Given the description of an element on the screen output the (x, y) to click on. 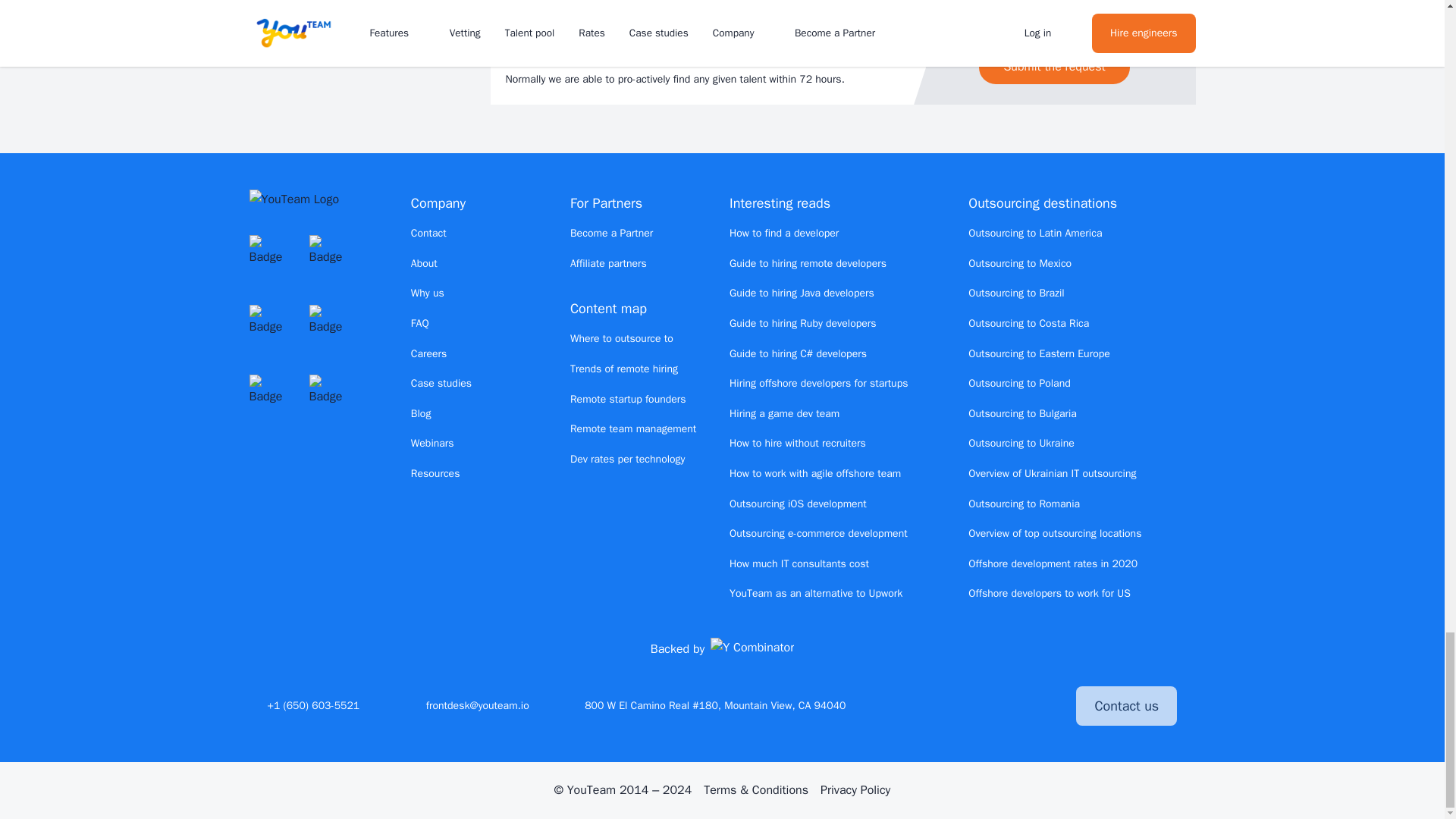
LinkedIn (964, 705)
Privacy Policy (855, 790)
Twitter (937, 705)
Facebook (991, 705)
